Given the description of an element on the screen output the (x, y) to click on. 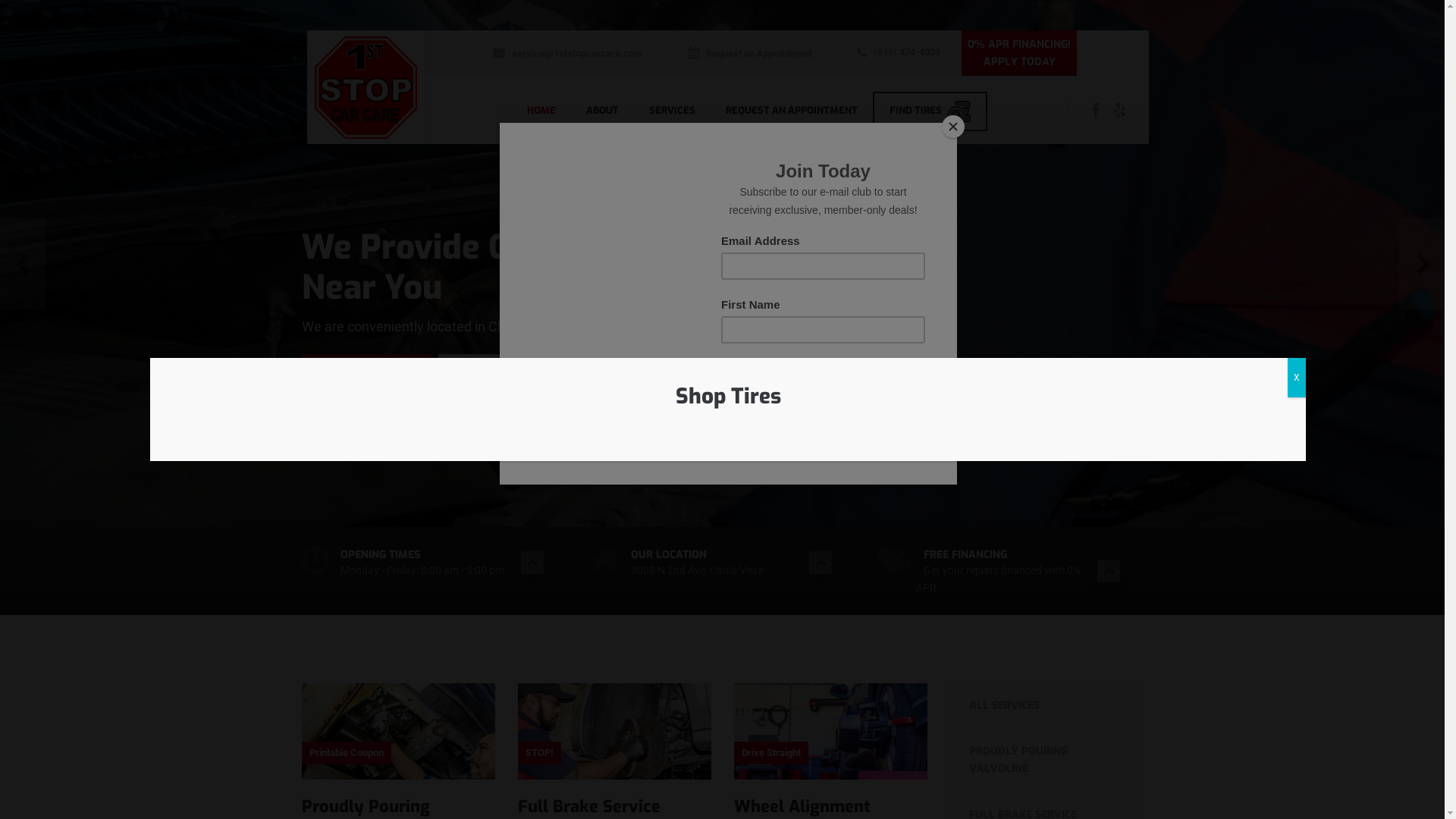
FIND TIRES Element type: text (929, 111)
HOME Element type: text (541, 109)
ABOUT Element type: text (602, 109)
0% APR FINANCING!
APPLY TODAY Element type: text (1018, 53)
Full Brake Service Element type: text (588, 806)
Printable Coupon Element type: text (398, 740)
service@1ststopcarcare.com Element type: text (566, 52)
Request an Appointment Element type: text (749, 52)
Wheel Alignment Element type: text (802, 806)
X Element type: text (1296, 377)
STOP! Element type: text (613, 740)
SERVICES Element type: text (671, 109)
ALL SERVICES Element type: text (1046, 706)
Drive Straight Element type: text (830, 740)
PROUDLY POURING VALVOLINE Element type: text (1046, 760)
REQUEST AN APPOINTMENT Element type: text (791, 109)
(619) 474-4009 Element type: text (897, 52)
